Given the description of an element on the screen output the (x, y) to click on. 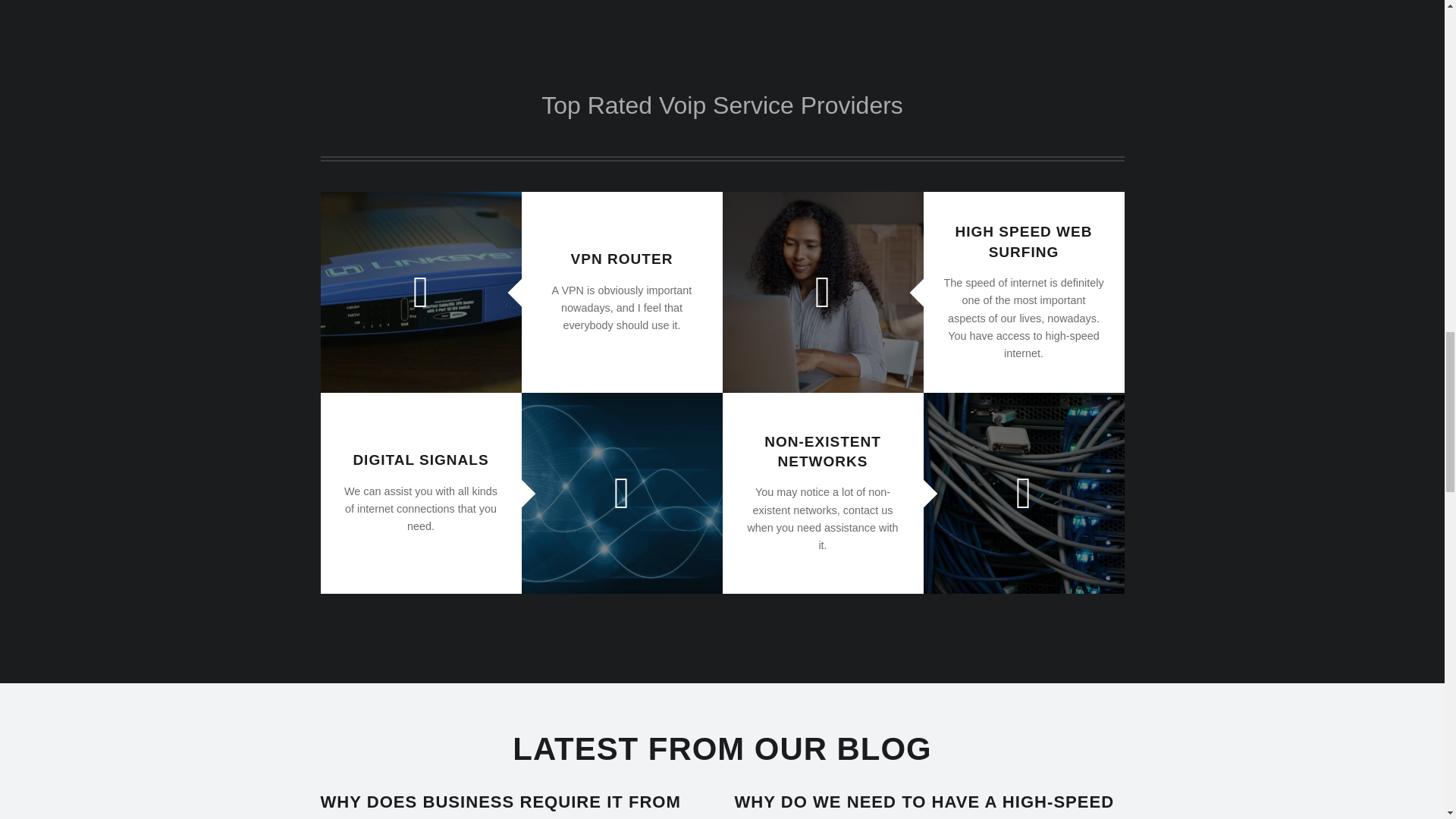
d3bcbf5fc1c081117d97fe7fed18f525 (621, 493)
net-neutrality (1023, 493)
WHY DO WE NEED TO HAVE A HIGH-SPEED INTERNET CONNECTION? (923, 805)
